Given the description of an element on the screen output the (x, y) to click on. 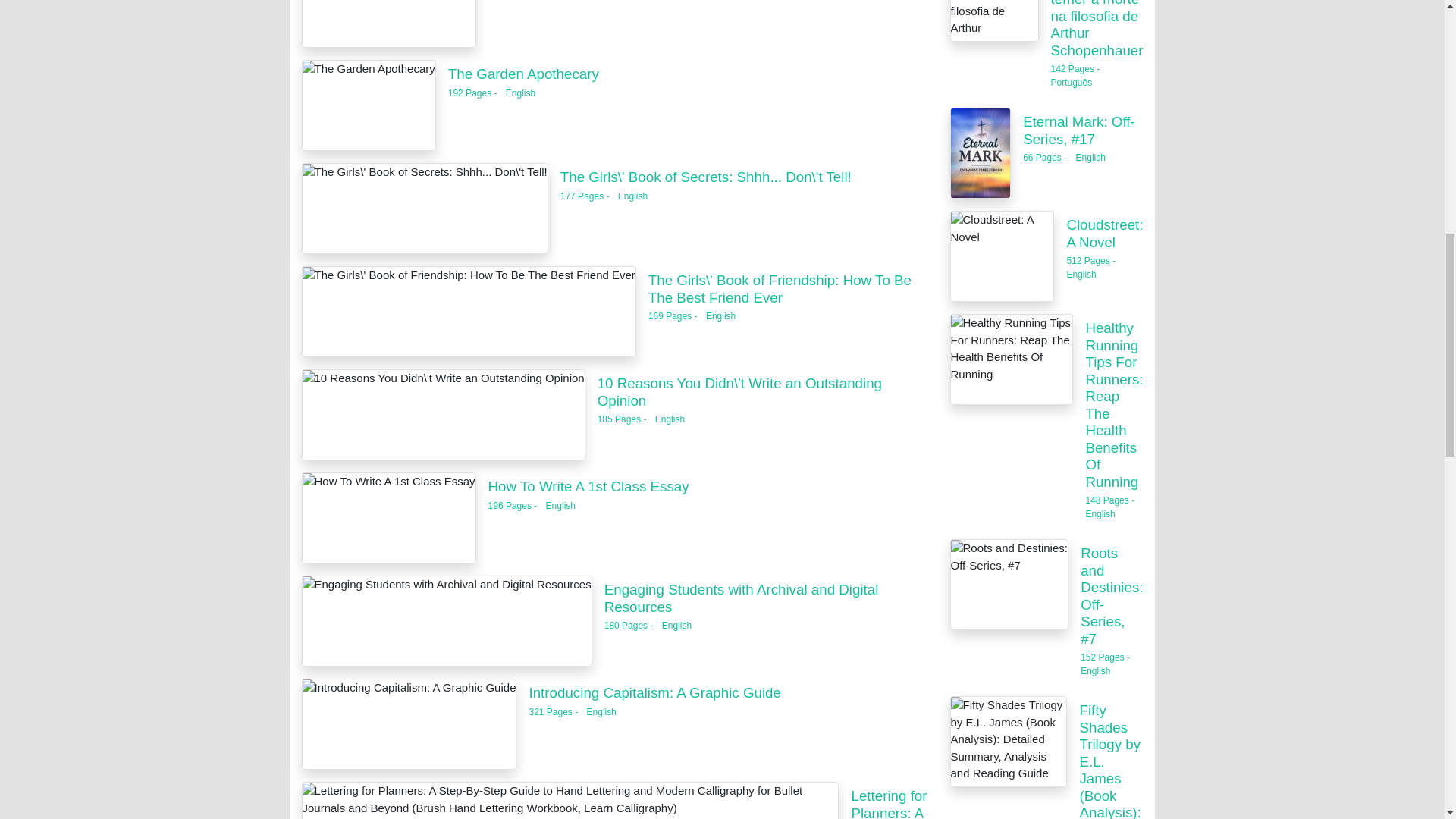
Engaging Students with Archival and Digital Resources (741, 598)
How To Write A 1st Class Essay (587, 486)
Engaging Students with Archival and Digital Resources (446, 620)
The Garden Apothecary (368, 104)
Introducing Capitalism: A Graphic Guide (408, 723)
How To Write A 1st Class Essay (388, 23)
How To Write A 1st Class Essay (388, 517)
The Garden Apothecary (523, 73)
Introducing Capitalism: A Graphic Guide (654, 692)
